Given the description of an element on the screen output the (x, y) to click on. 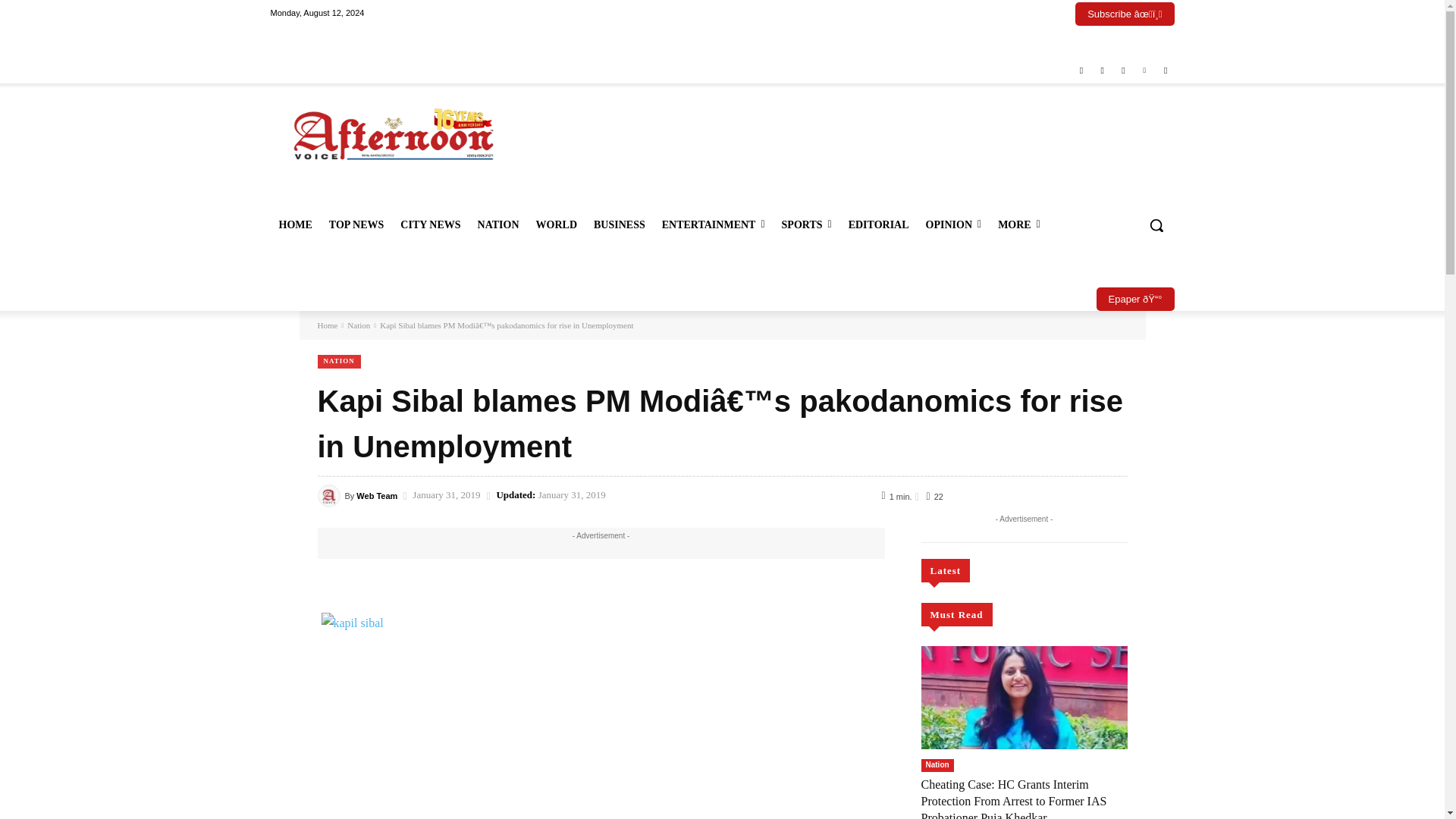
Facebook (1081, 70)
Vimeo (1144, 70)
Youtube (1165, 70)
Twitter (1123, 70)
Instagram (1101, 70)
